Given the description of an element on the screen output the (x, y) to click on. 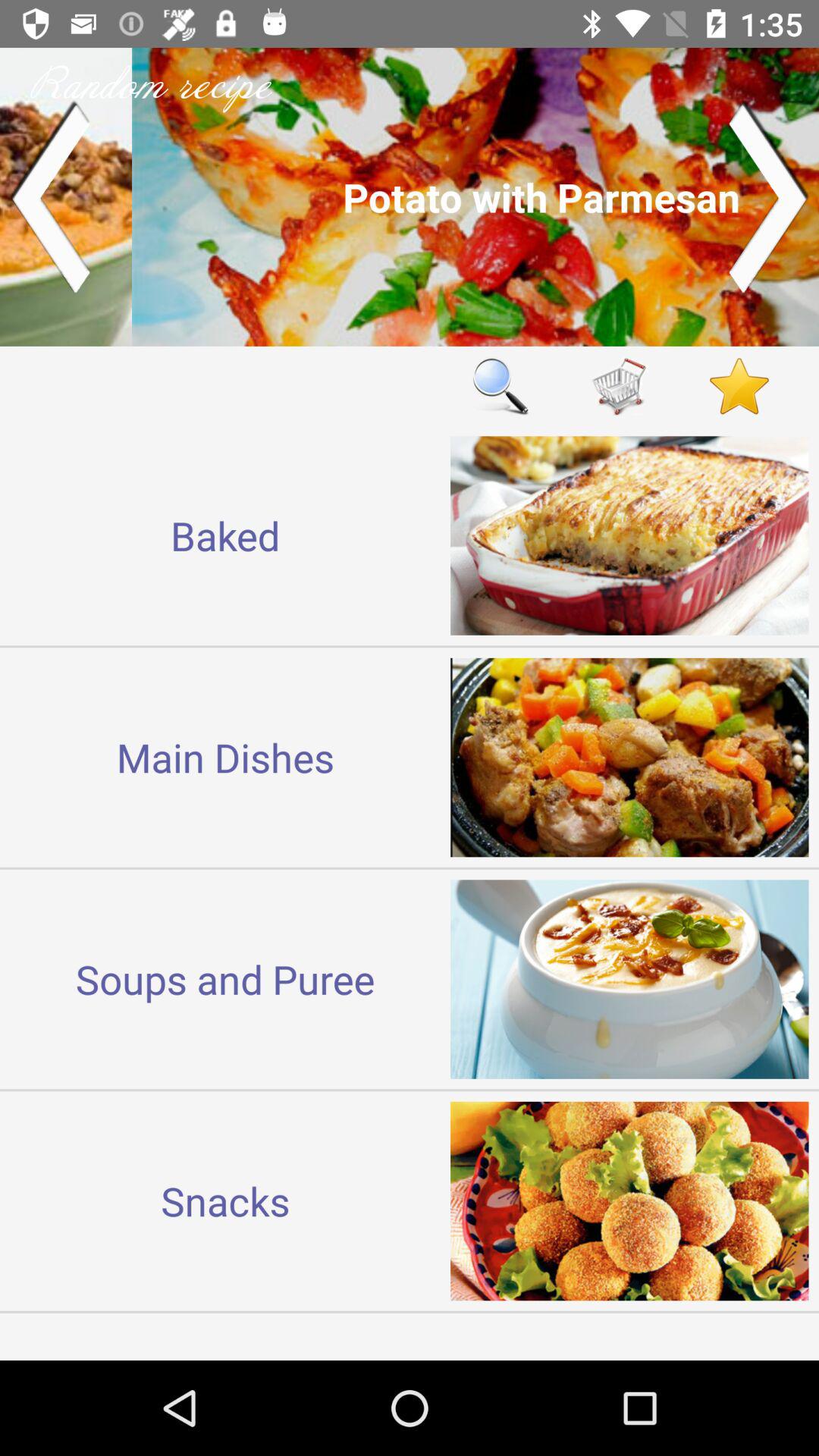
scroll to the right (769, 196)
